Given the description of an element on the screen output the (x, y) to click on. 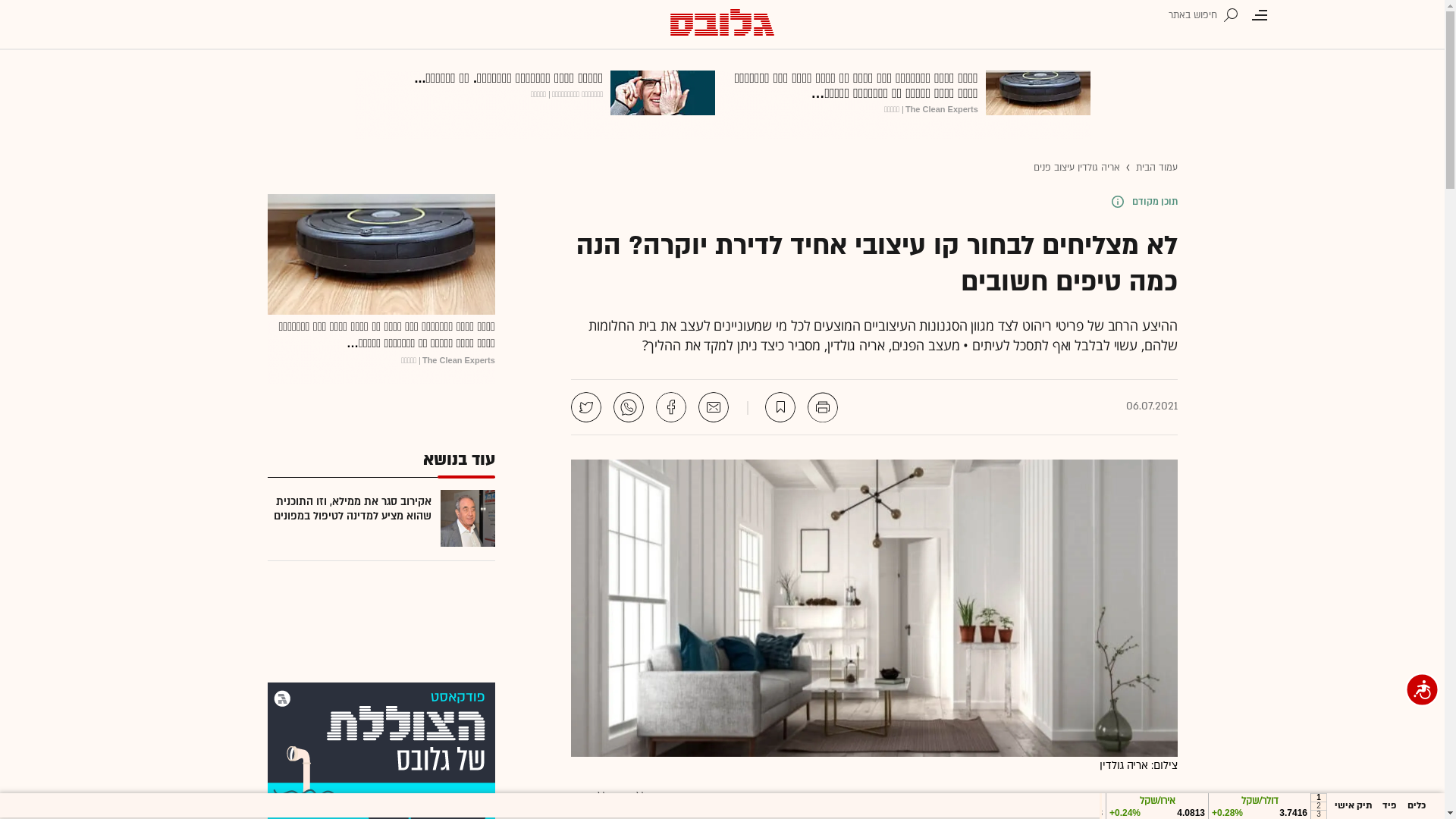
3rd party ad content Element type: hover (722, 104)
3rd party ad content Element type: hover (380, 288)
